Given the description of an element on the screen output the (x, y) to click on. 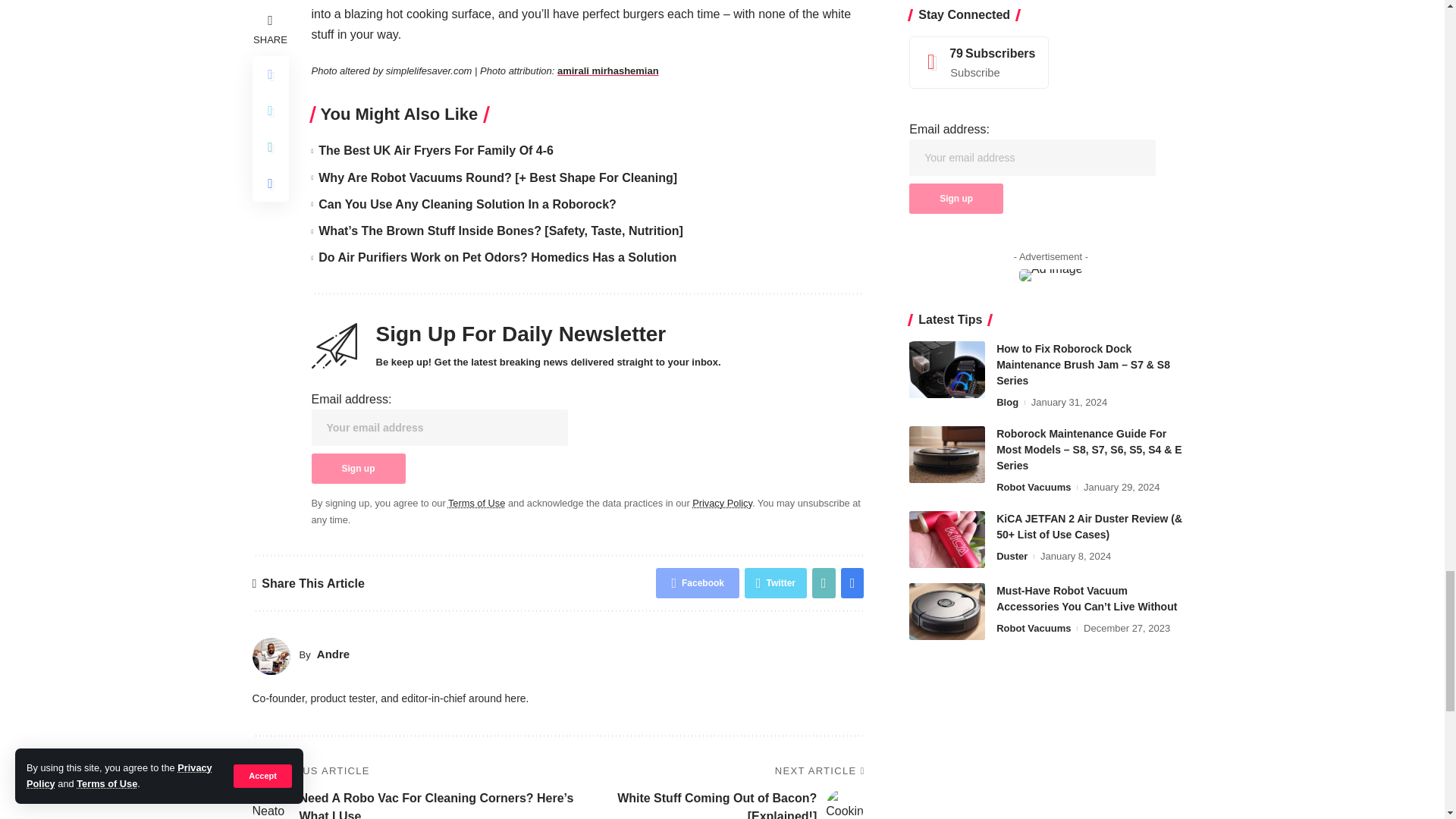
Sign up (357, 468)
